Given the description of an element on the screen output the (x, y) to click on. 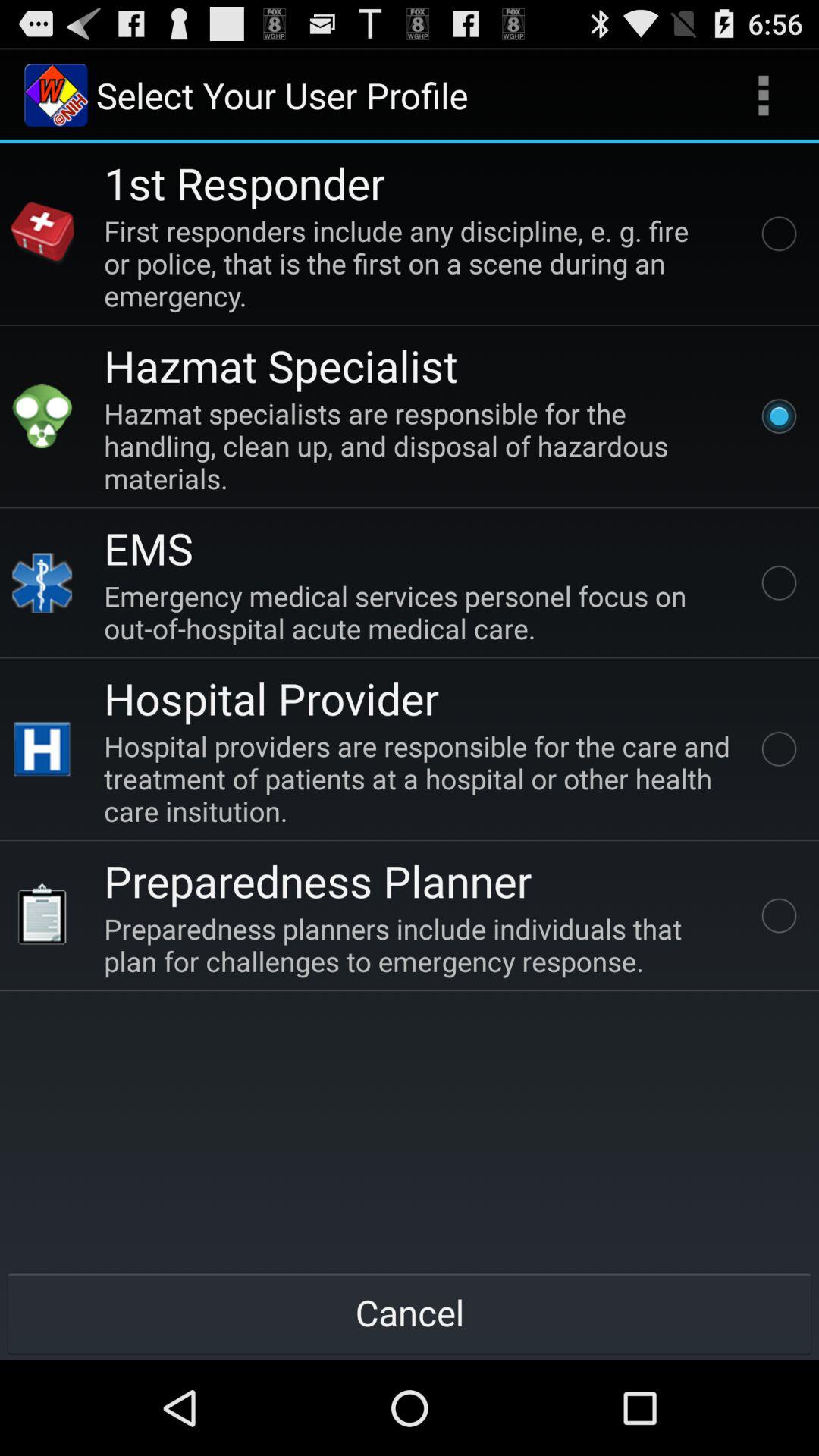
click 1st responder icon (244, 182)
